Given the description of an element on the screen output the (x, y) to click on. 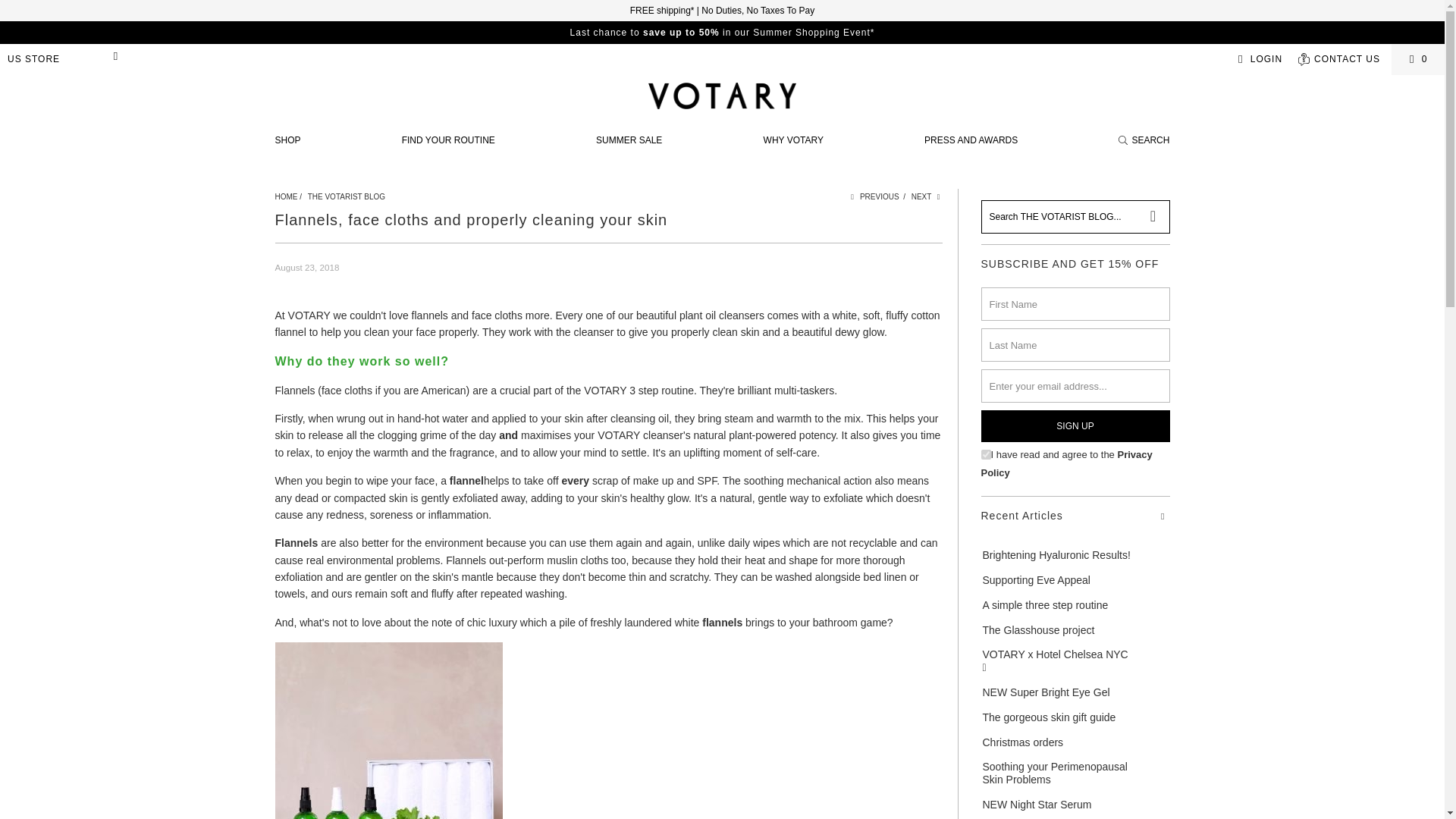
Brightening Hyaluronic Results! (1056, 554)
Summer Shopping Event (722, 32)
My Account  (1257, 58)
VOTARY US  (286, 196)
Supporting Eve Appeal (1035, 580)
Sign Up (1075, 426)
VOTARY US  (721, 96)
A simple three step routine (1044, 604)
CONTACT US (1338, 58)
THE VOTARIST BLOG (346, 196)
true (986, 454)
